Given the description of an element on the screen output the (x, y) to click on. 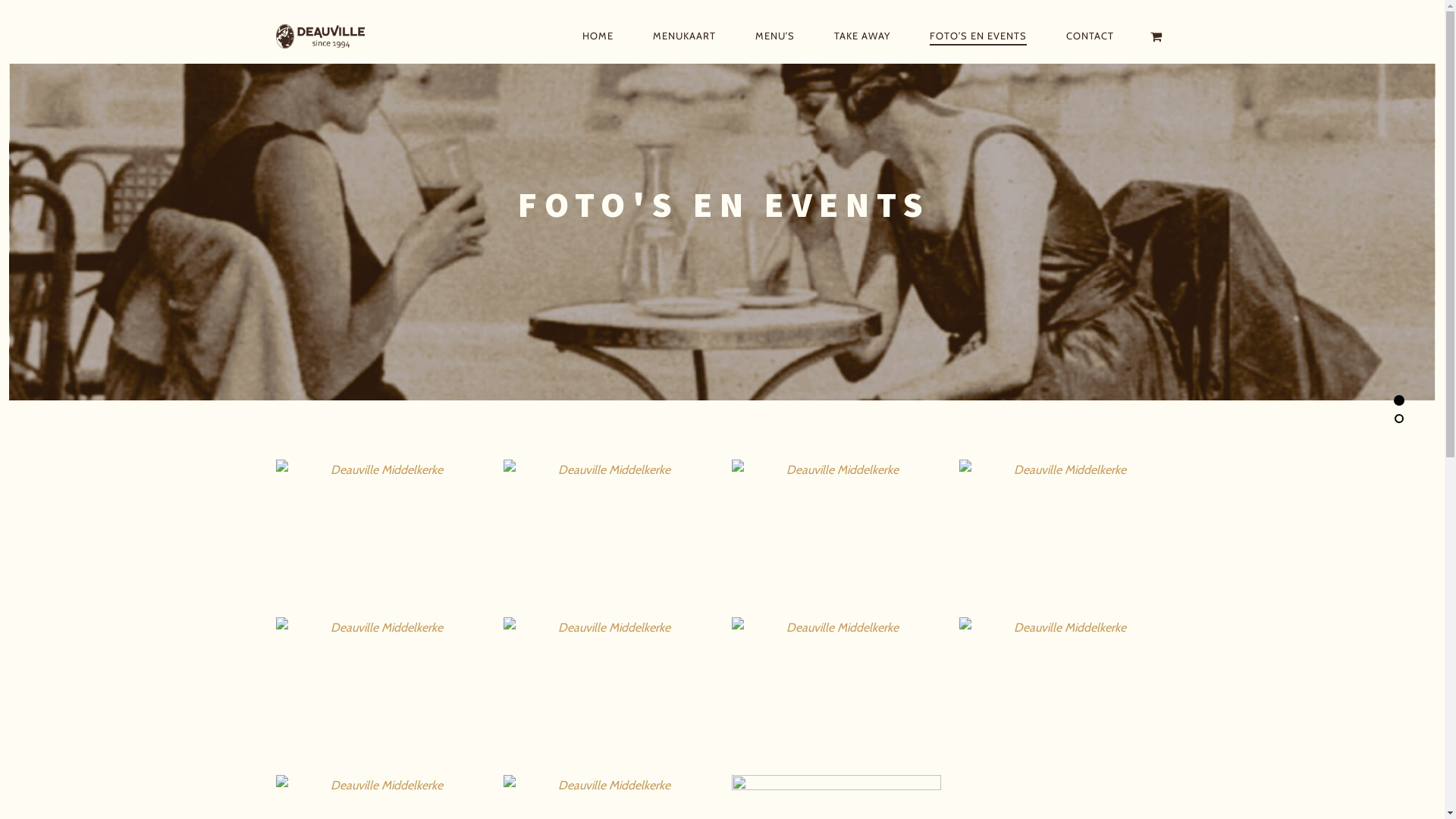
HOME Element type: text (597, 35)
CONTACT Element type: text (1090, 35)
TAKE AWAY Element type: text (861, 35)
MENUKAART Element type: text (684, 35)
Deauville Middelkerke Element type: hover (332, 36)
